Given the description of an element on the screen output the (x, y) to click on. 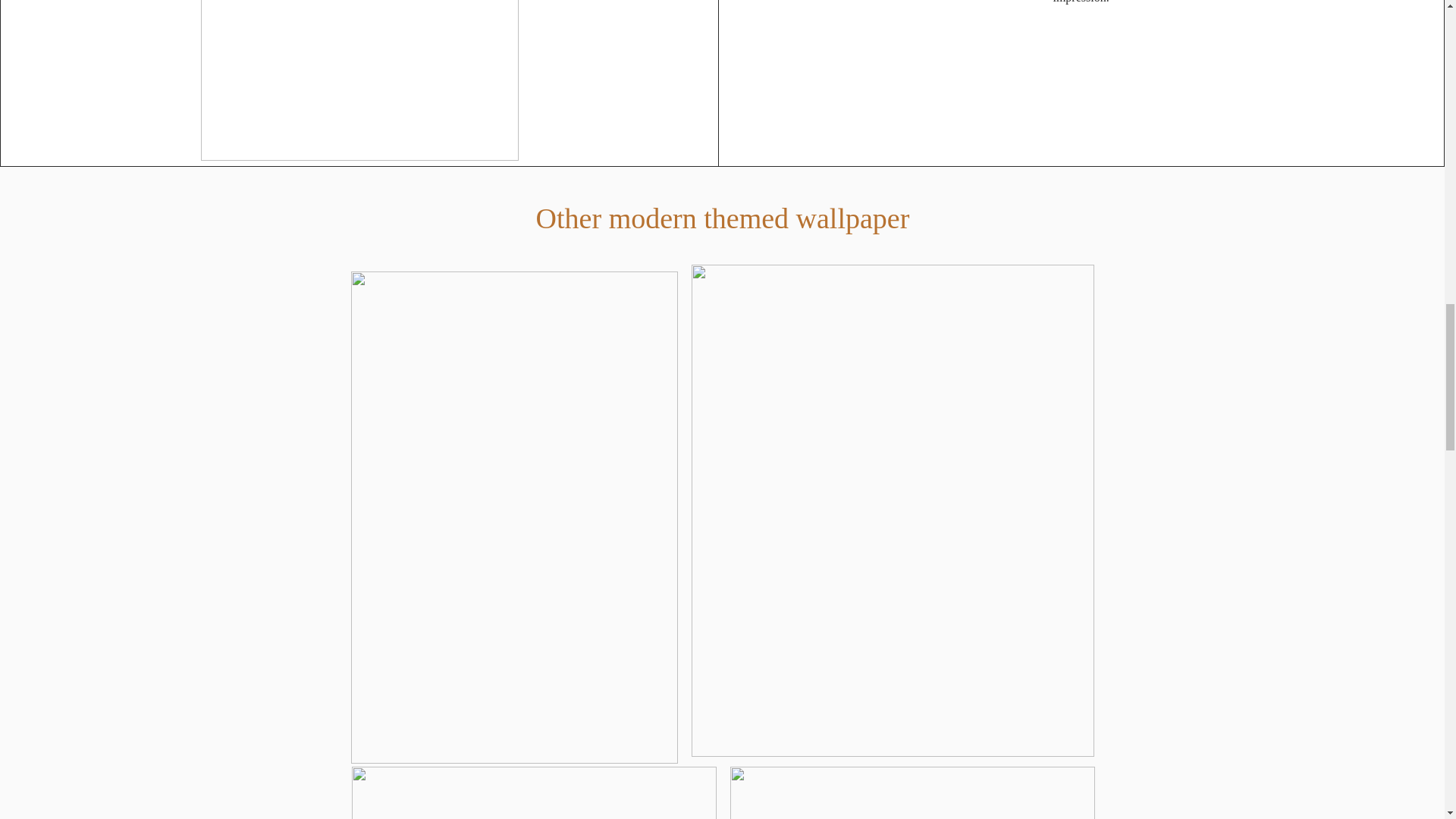
tilet.PNG (359, 80)
modern9.png (911, 792)
modern12.png (534, 792)
